Given the description of an element on the screen output the (x, y) to click on. 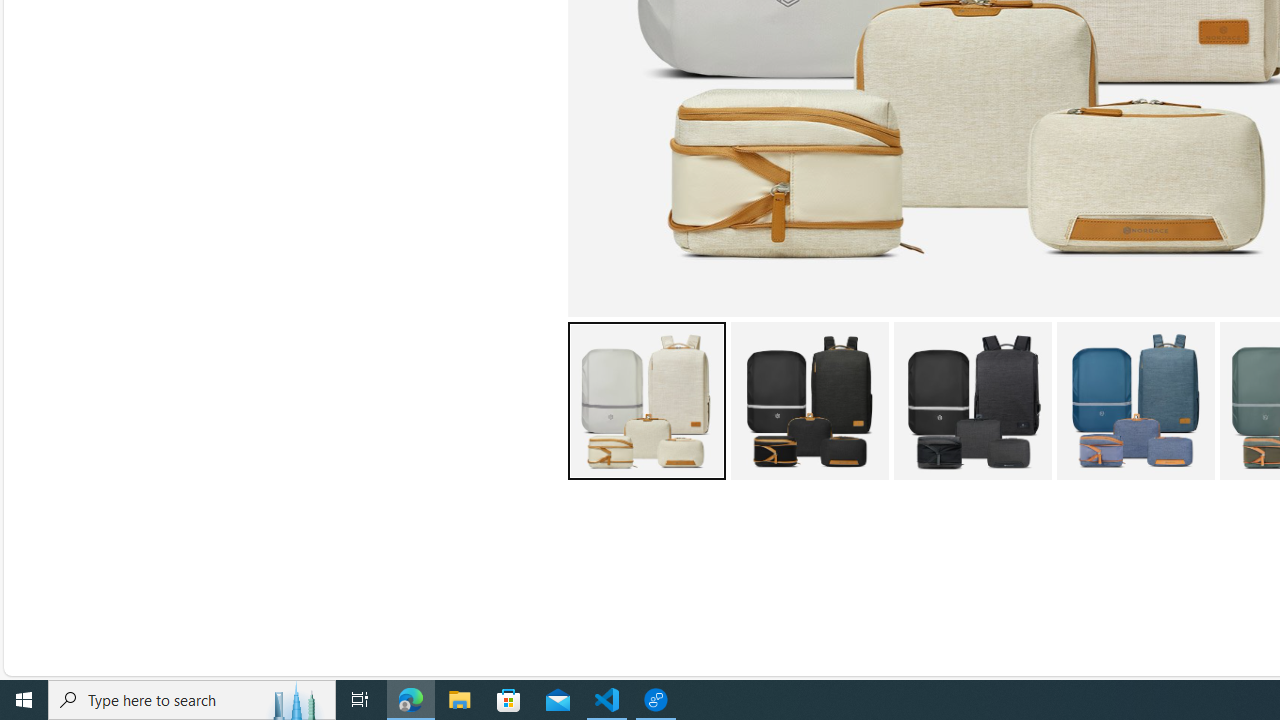
Siena Pro 15 Essential Set (1135, 400)
